Given the description of an element on the screen output the (x, y) to click on. 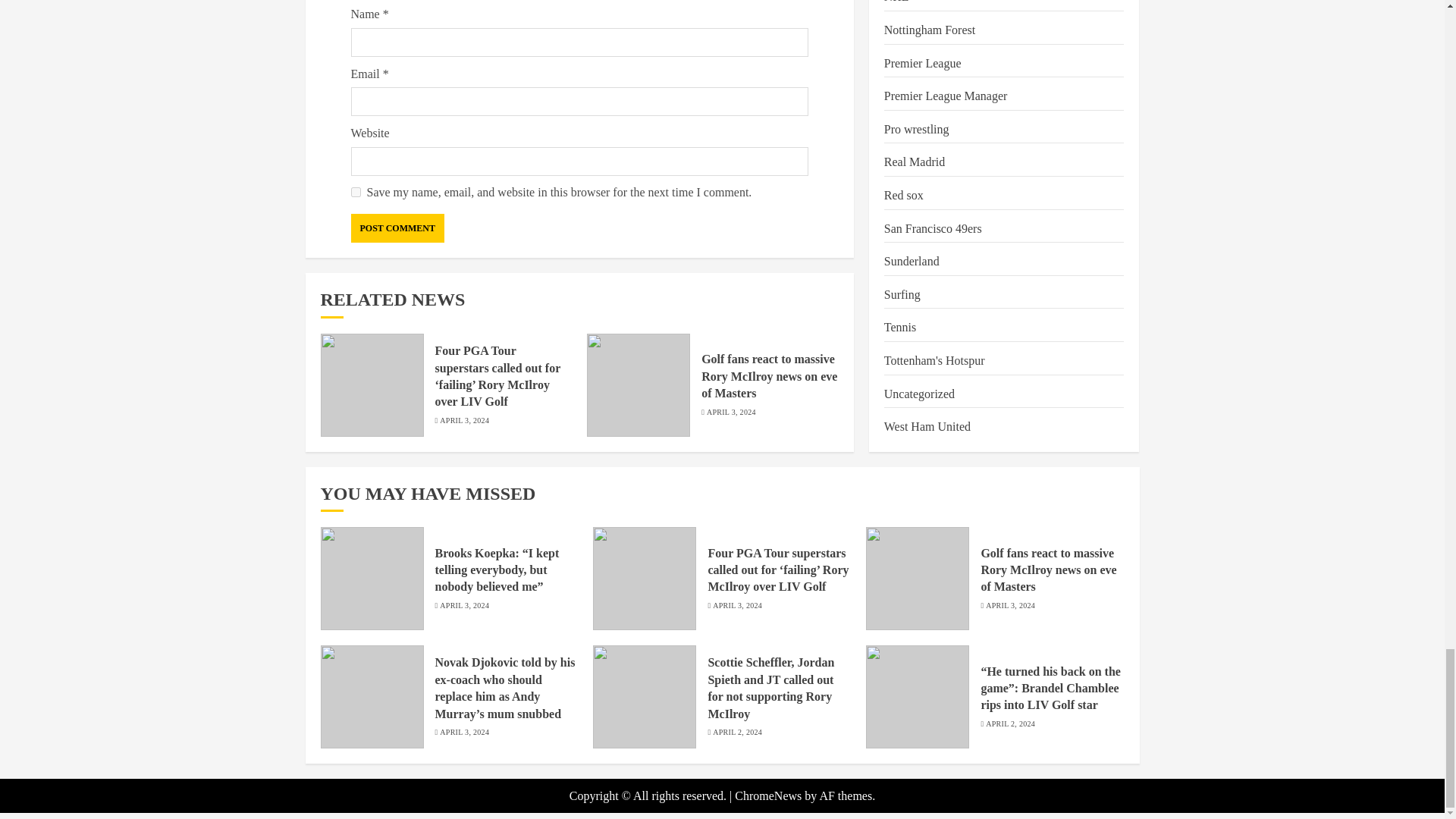
APRIL 3, 2024 (730, 412)
Post Comment (397, 227)
Post Comment (397, 227)
yes (354, 192)
APRIL 3, 2024 (464, 420)
